Given the description of an element on the screen output the (x, y) to click on. 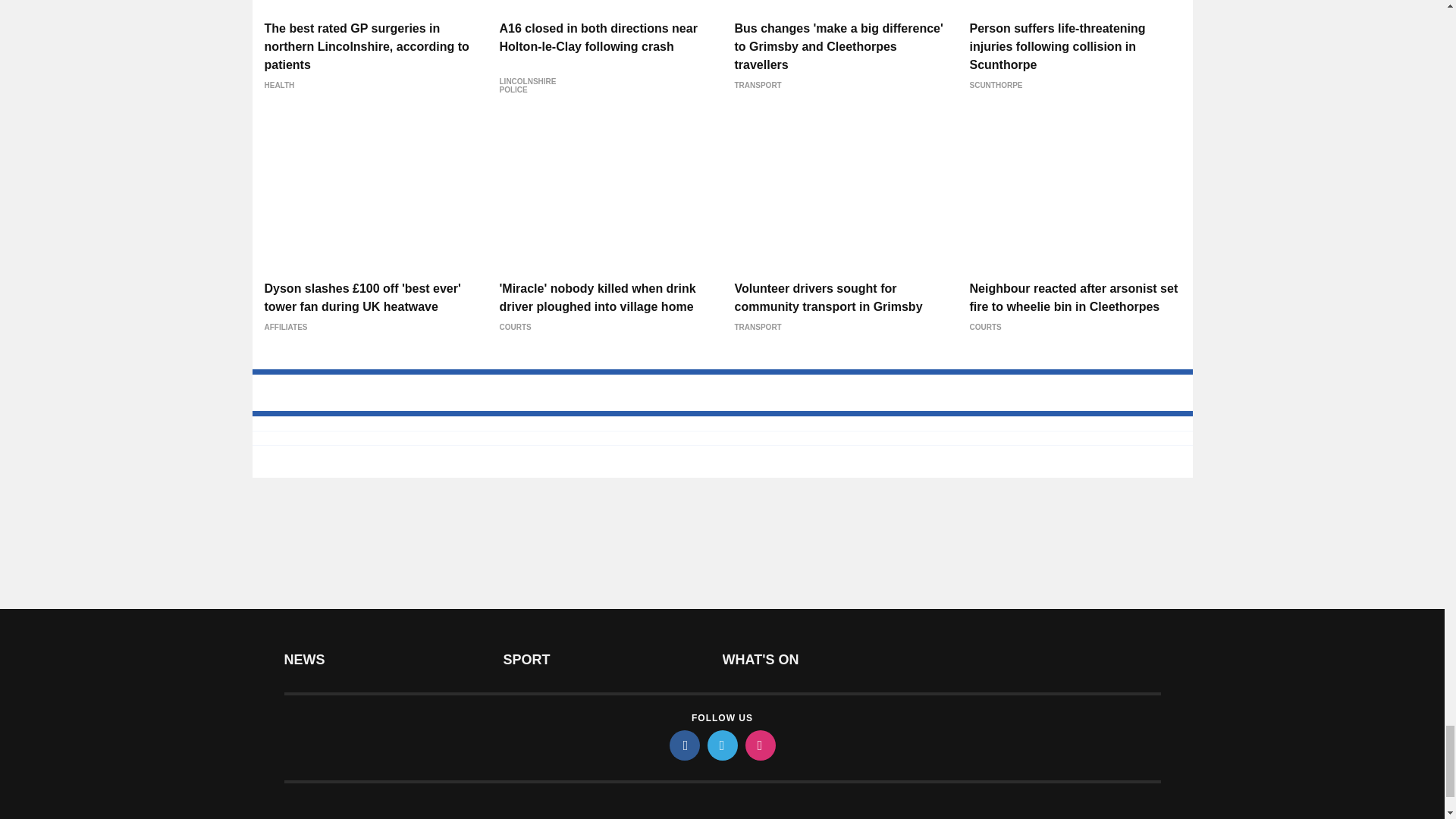
instagram (759, 744)
facebook (683, 744)
twitter (721, 744)
